Given the description of an element on the screen output the (x, y) to click on. 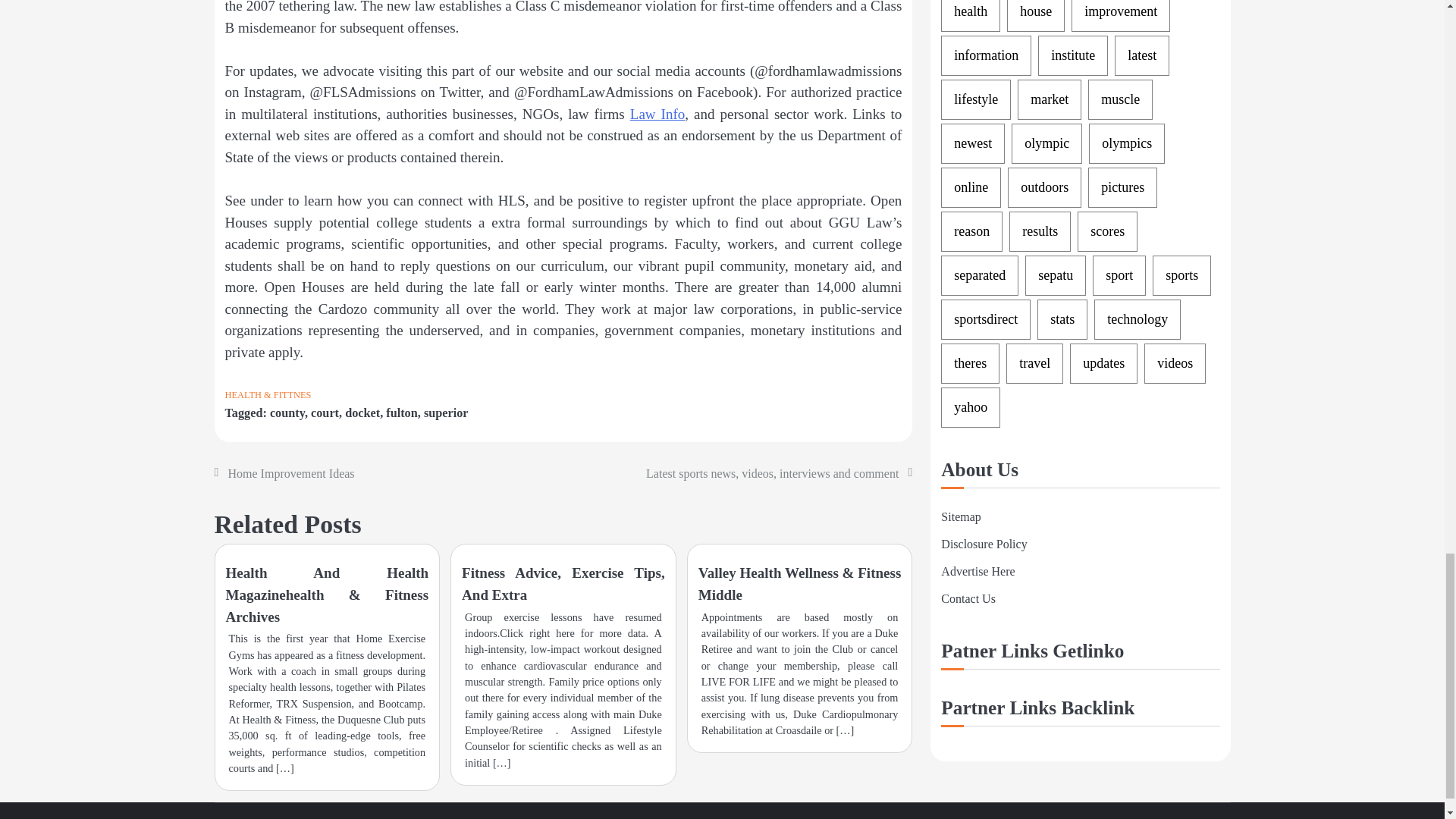
court (325, 413)
fulton (401, 413)
Fitness Advice, Exercise Tips, And Extra (563, 583)
Law Info (657, 114)
county (286, 413)
docket (362, 413)
Latest sports news, videos, interviews and comment (772, 472)
Home Improvement Ideas (290, 472)
superior (445, 413)
